Given the description of an element on the screen output the (x, y) to click on. 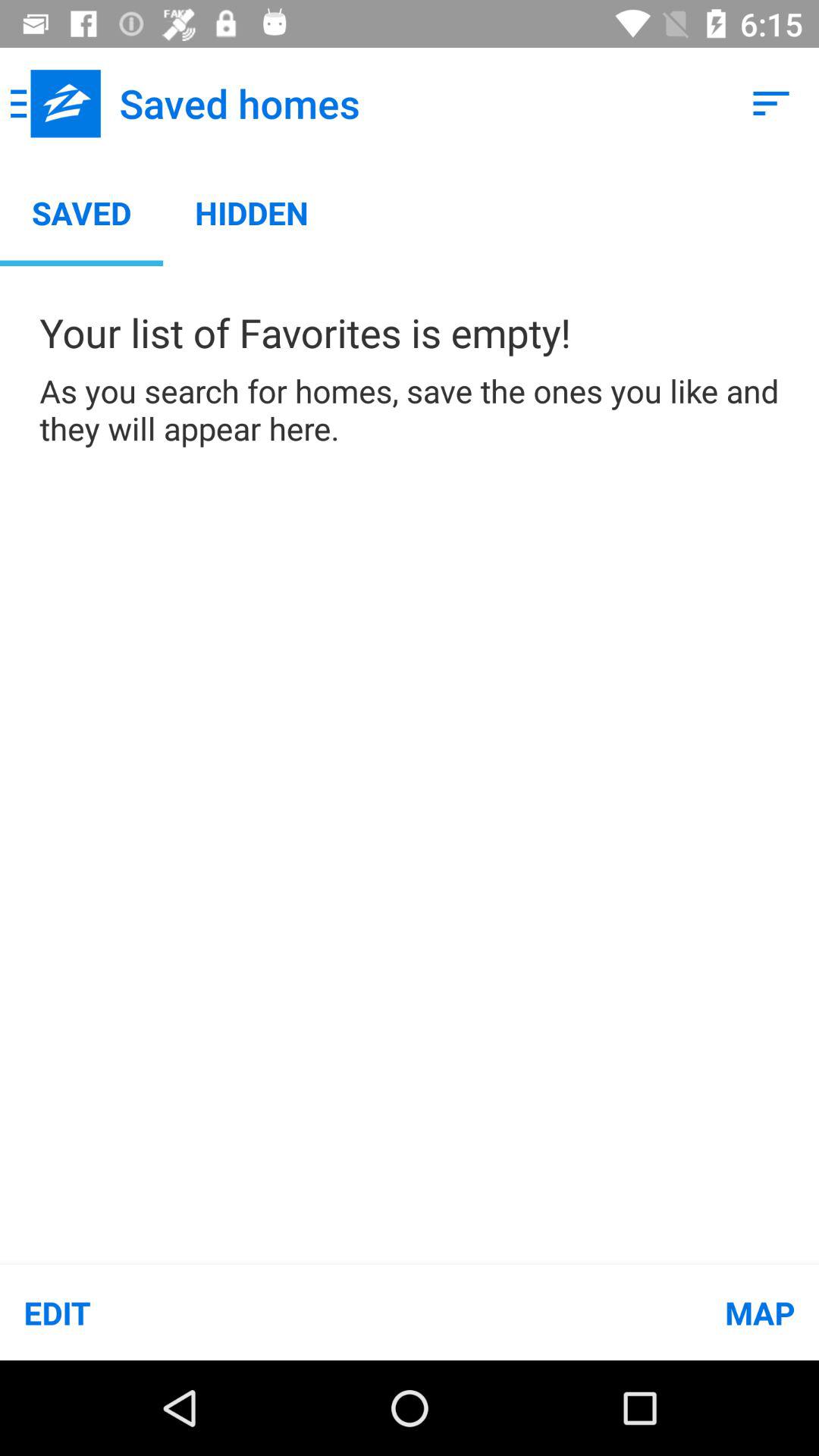
turn off the hidden app (251, 212)
